Given the description of an element on the screen output the (x, y) to click on. 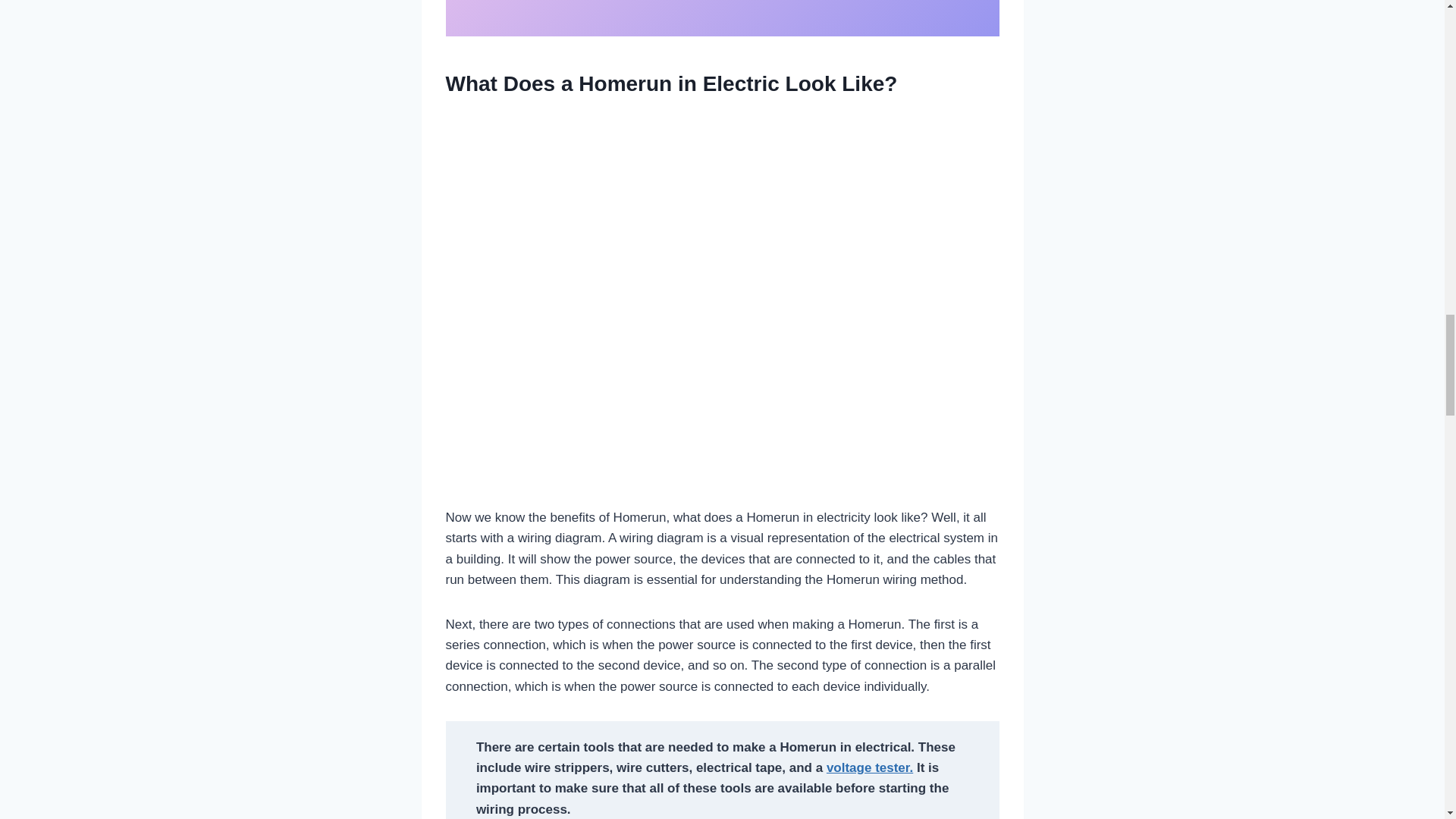
voltage tester. (869, 767)
